Given the description of an element on the screen output the (x, y) to click on. 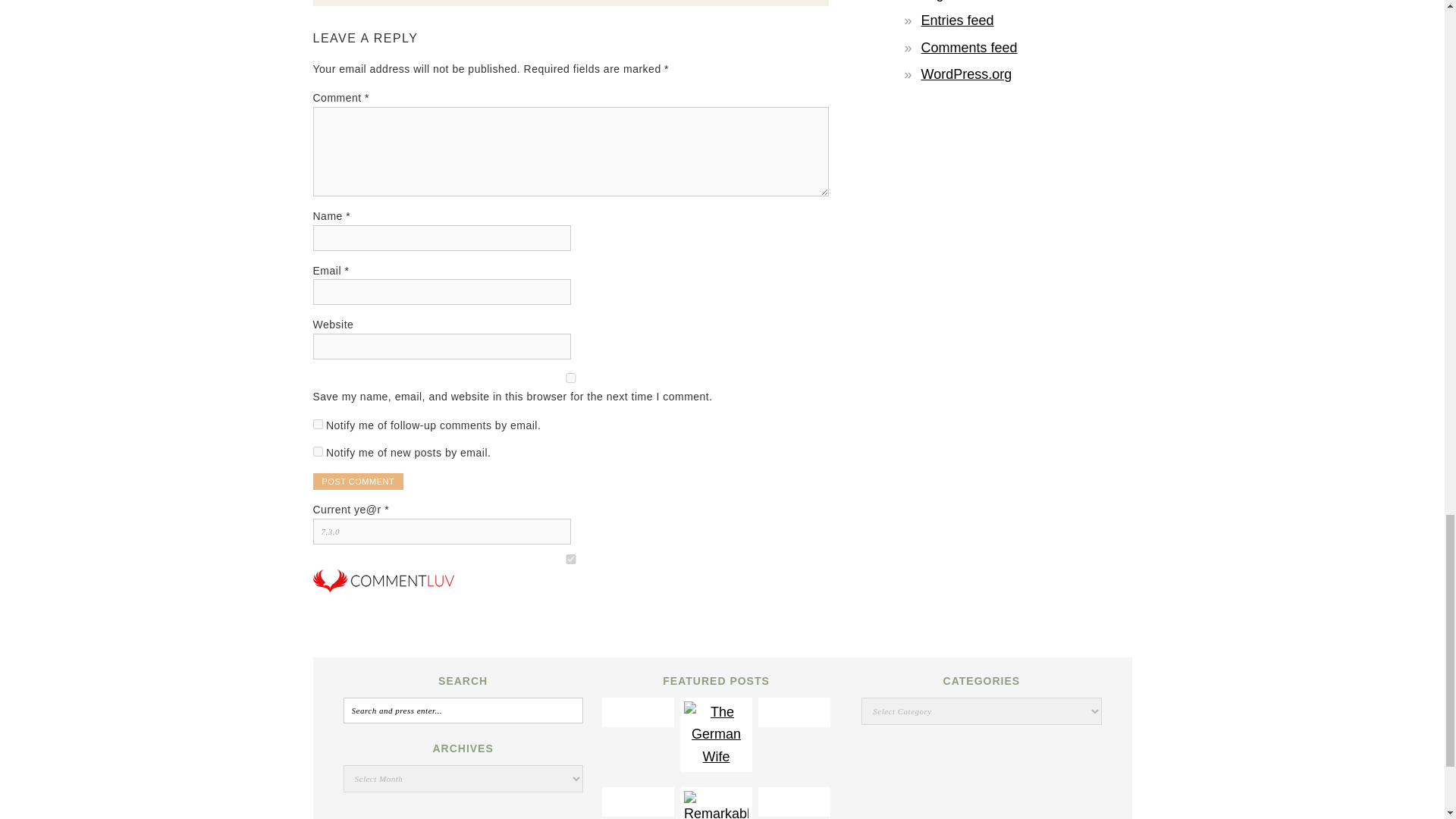
7.3.0 (441, 531)
yes (570, 378)
Blog Tour: The German Wife by Kelly Rimmer (716, 756)
subscribe (317, 451)
Post Comment (358, 481)
on (570, 559)
subscribe (317, 423)
